Given the description of an element on the screen output the (x, y) to click on. 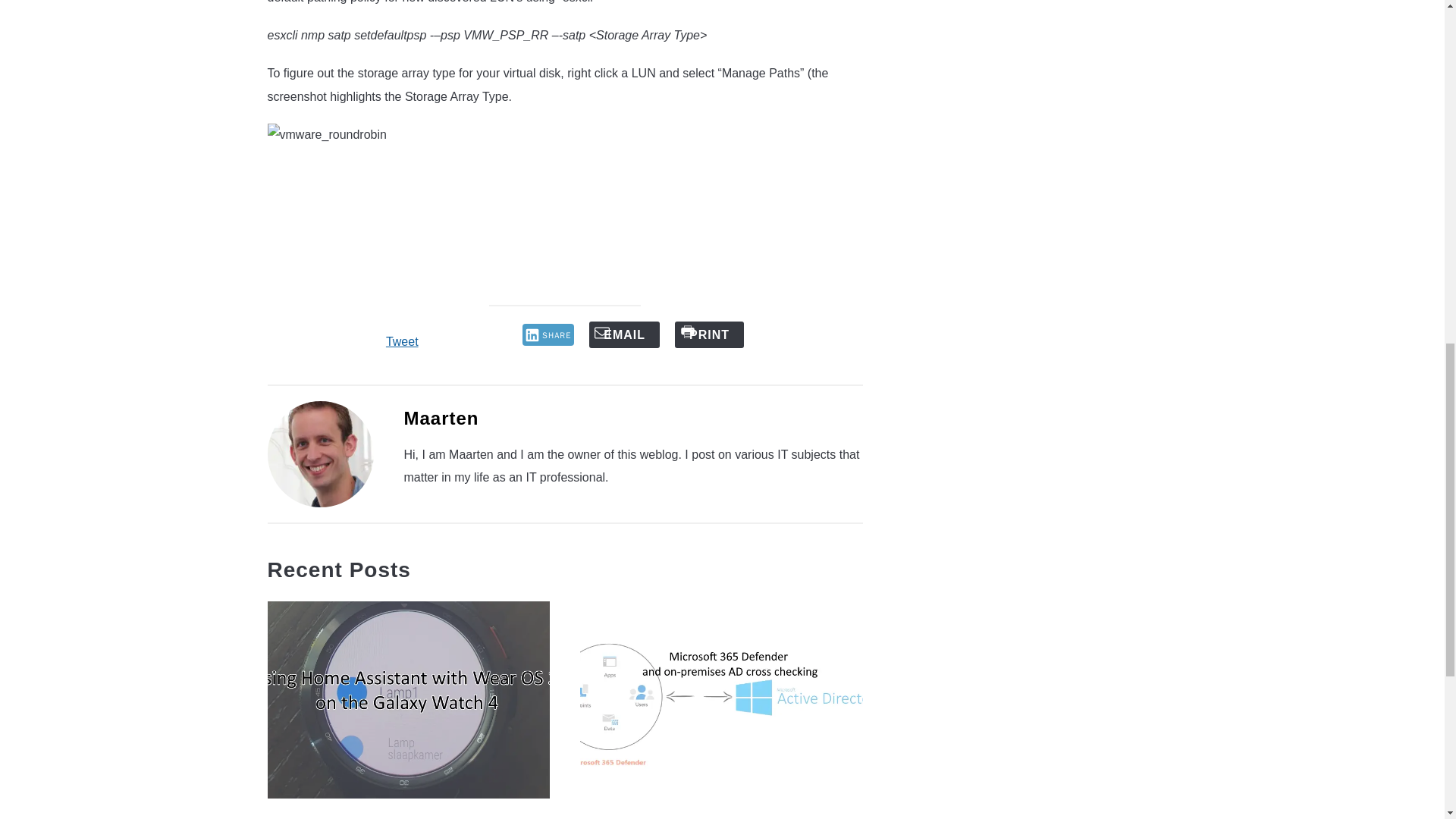
SHARE (548, 334)
EMAIL (624, 334)
Maarten (441, 417)
Tweet (402, 341)
PRINT (709, 334)
